Given the description of an element on the screen output the (x, y) to click on. 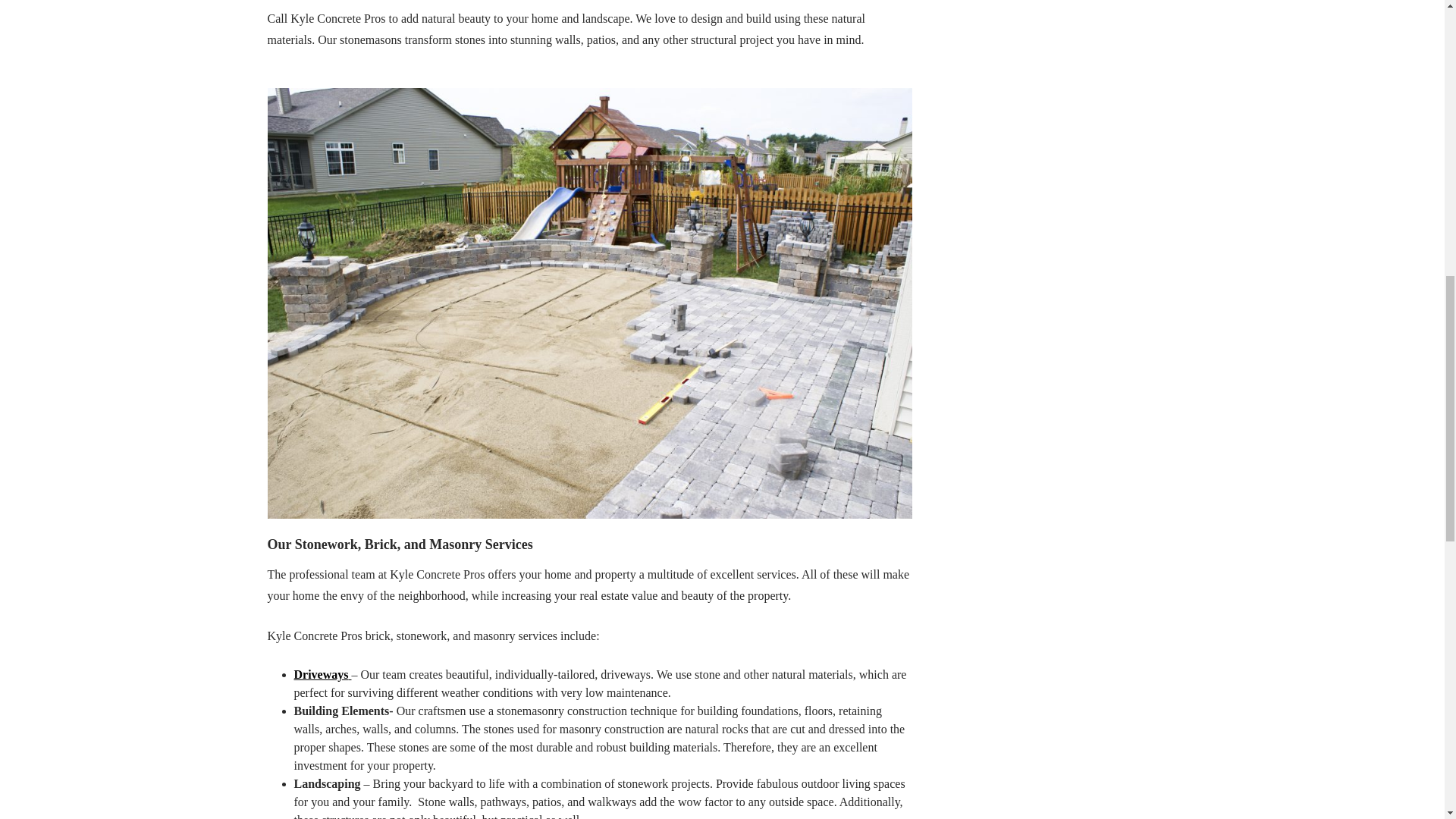
Driveways (323, 674)
